Given the description of an element on the screen output the (x, y) to click on. 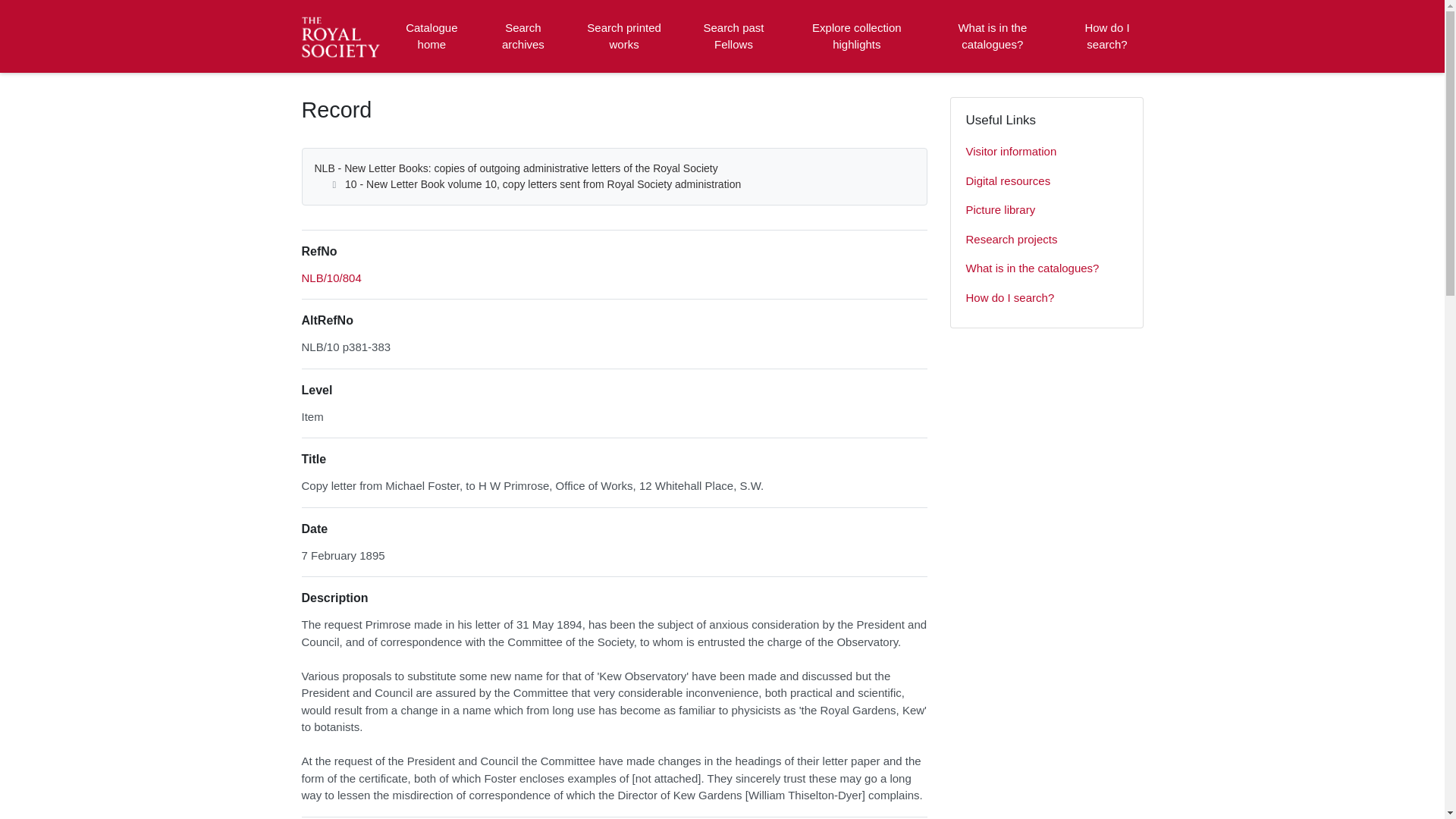
Digital resources (1046, 181)
Homepage (343, 36)
Search archives (522, 36)
Search past Fellows (732, 36)
Explore collection highlights (856, 36)
How do I search? (1106, 36)
Picture library (1046, 210)
Catalogue home (431, 36)
What is in the catalogues? (1046, 268)
Search printed works (624, 36)
What is in the catalogues? (991, 36)
Research projects (1046, 239)
How do I search? (1046, 297)
